Given the description of an element on the screen output the (x, y) to click on. 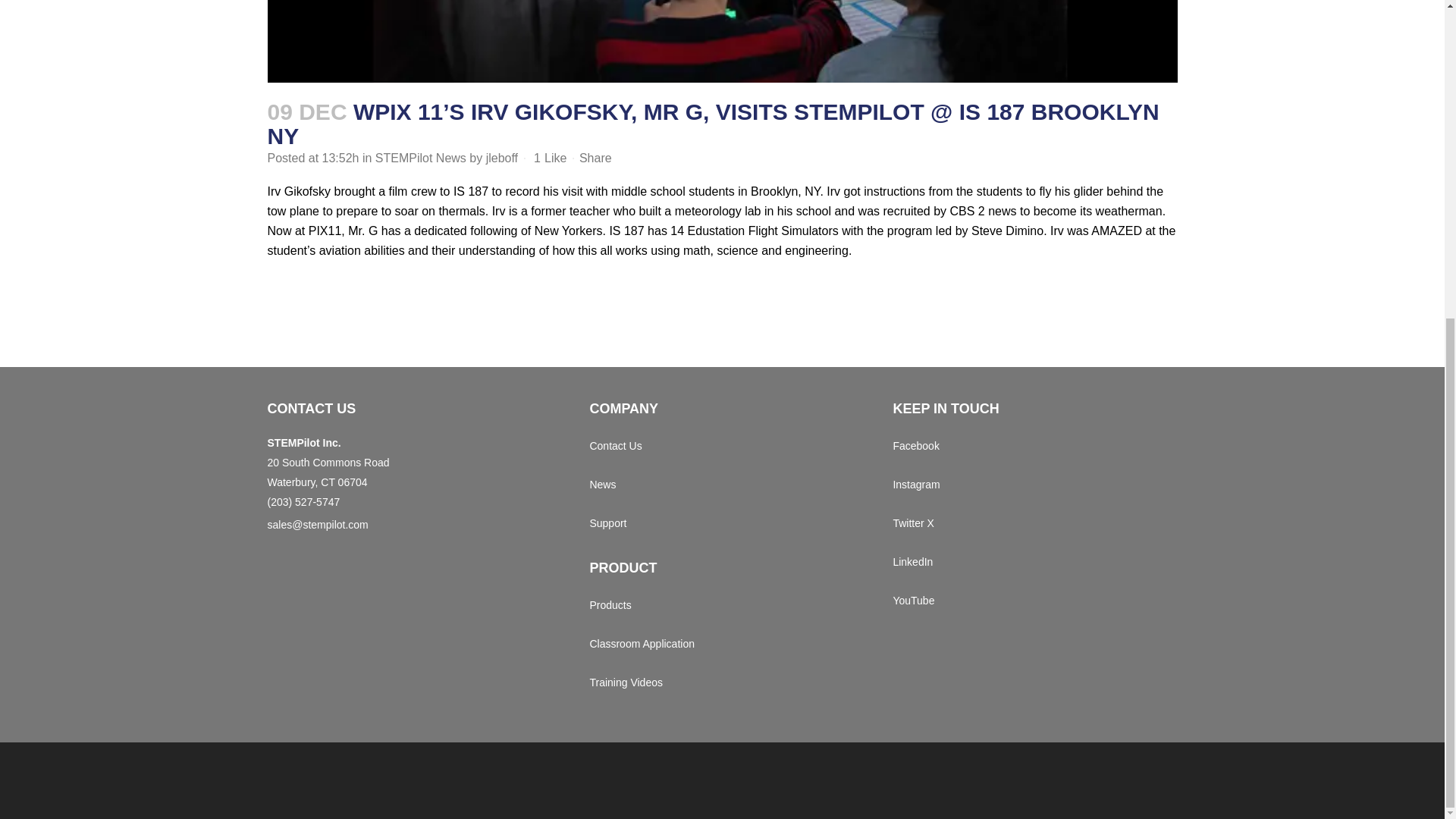
1 Like (550, 158)
Like this (550, 158)
jleboff (502, 157)
Share (595, 157)
STEMPilot News (420, 157)
